Given the description of an element on the screen output the (x, y) to click on. 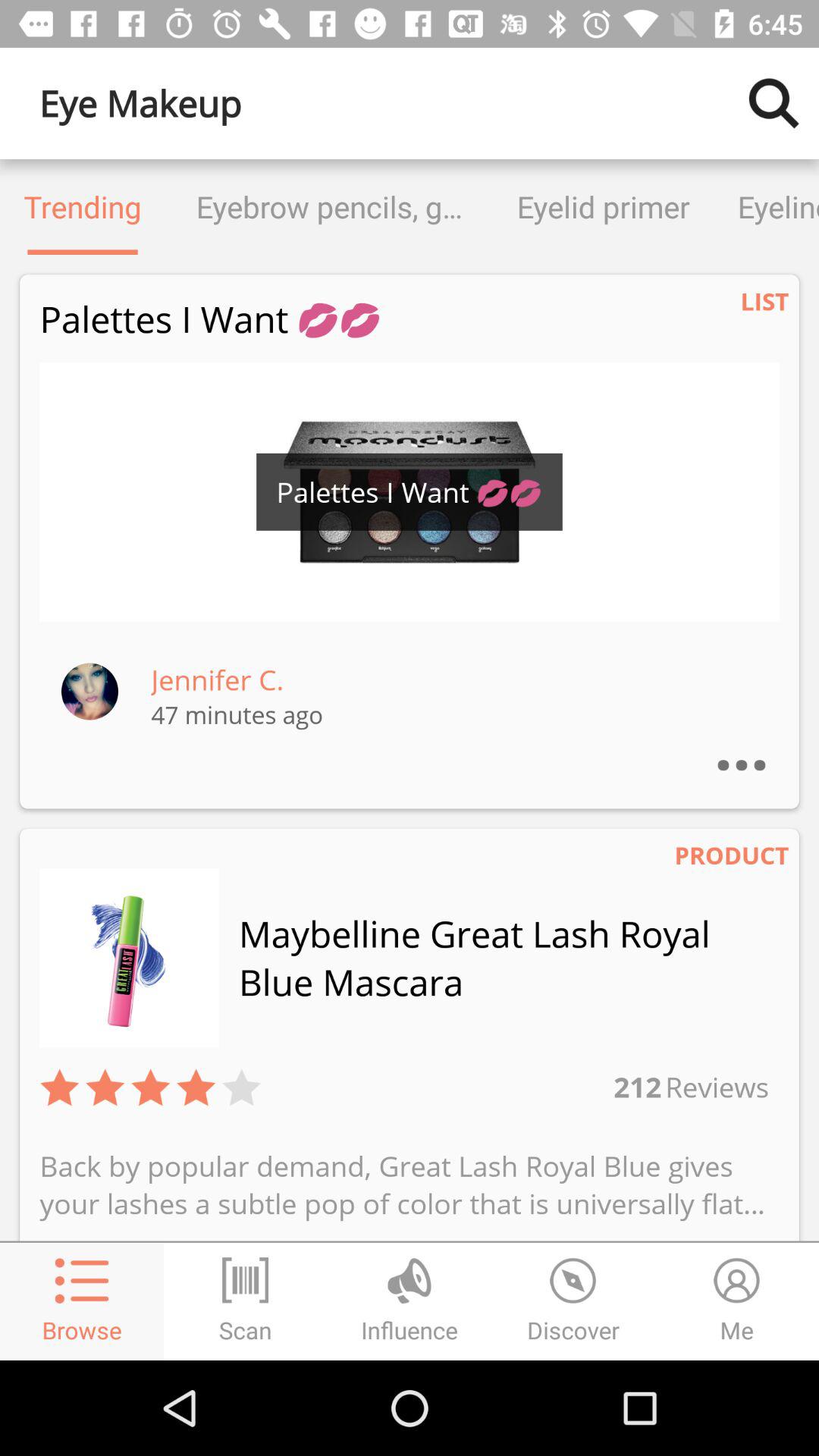
tap icon below the maybelline great lash item (714, 1086)
